Given the description of an element on the screen output the (x, y) to click on. 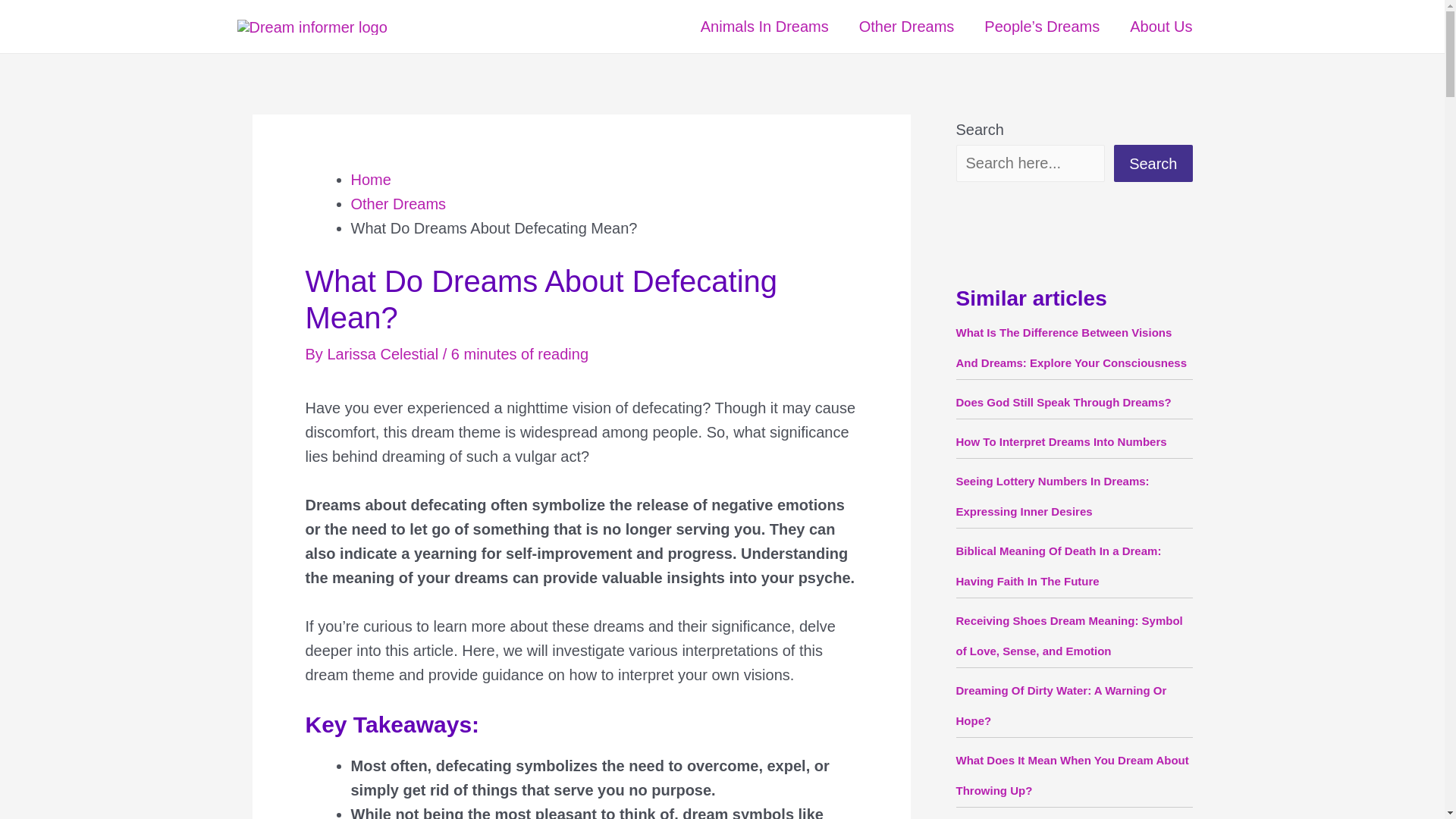
Larissa Celestial (384, 353)
What Does It Mean When You Dream About Throwing Up? (1071, 774)
Dreaming Of Dirty Water: A Warning Or Hope? (1060, 705)
Seeing Lottery Numbers In Dreams: Expressing Inner Desires (1051, 496)
Other Dreams (906, 26)
Home (370, 179)
About Us (1161, 26)
Animals In Dreams (764, 26)
How To Interpret Dreams Into Numbers (1060, 440)
